Given the description of an element on the screen output the (x, y) to click on. 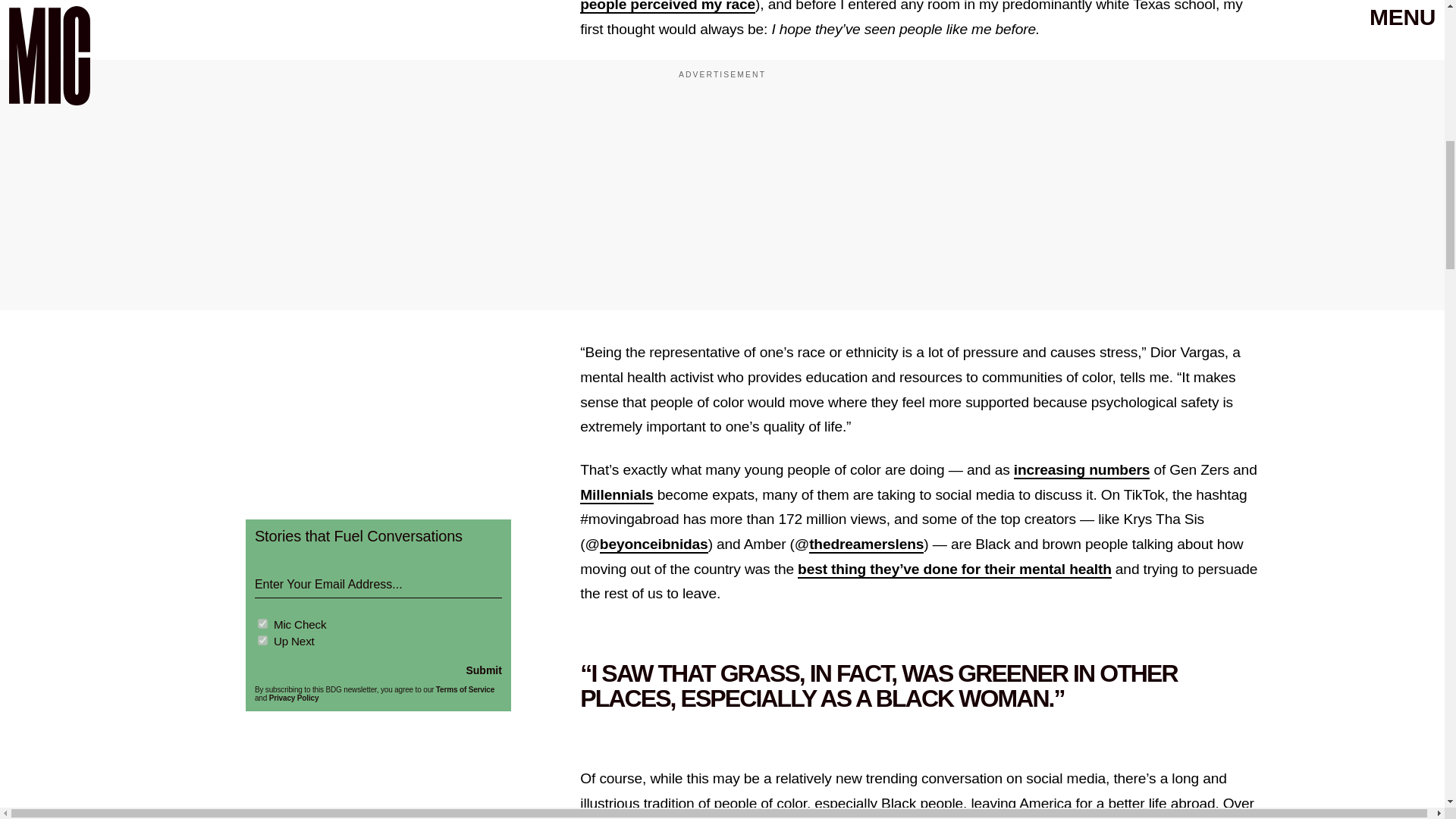
Privacy Policy (293, 697)
Millennials (615, 495)
Terms of Service (465, 689)
thedreamerslens (866, 544)
Submit (482, 670)
beyonceibnidas (653, 544)
how people perceived my race (906, 6)
increasing numbers (1081, 470)
